Given the description of an element on the screen output the (x, y) to click on. 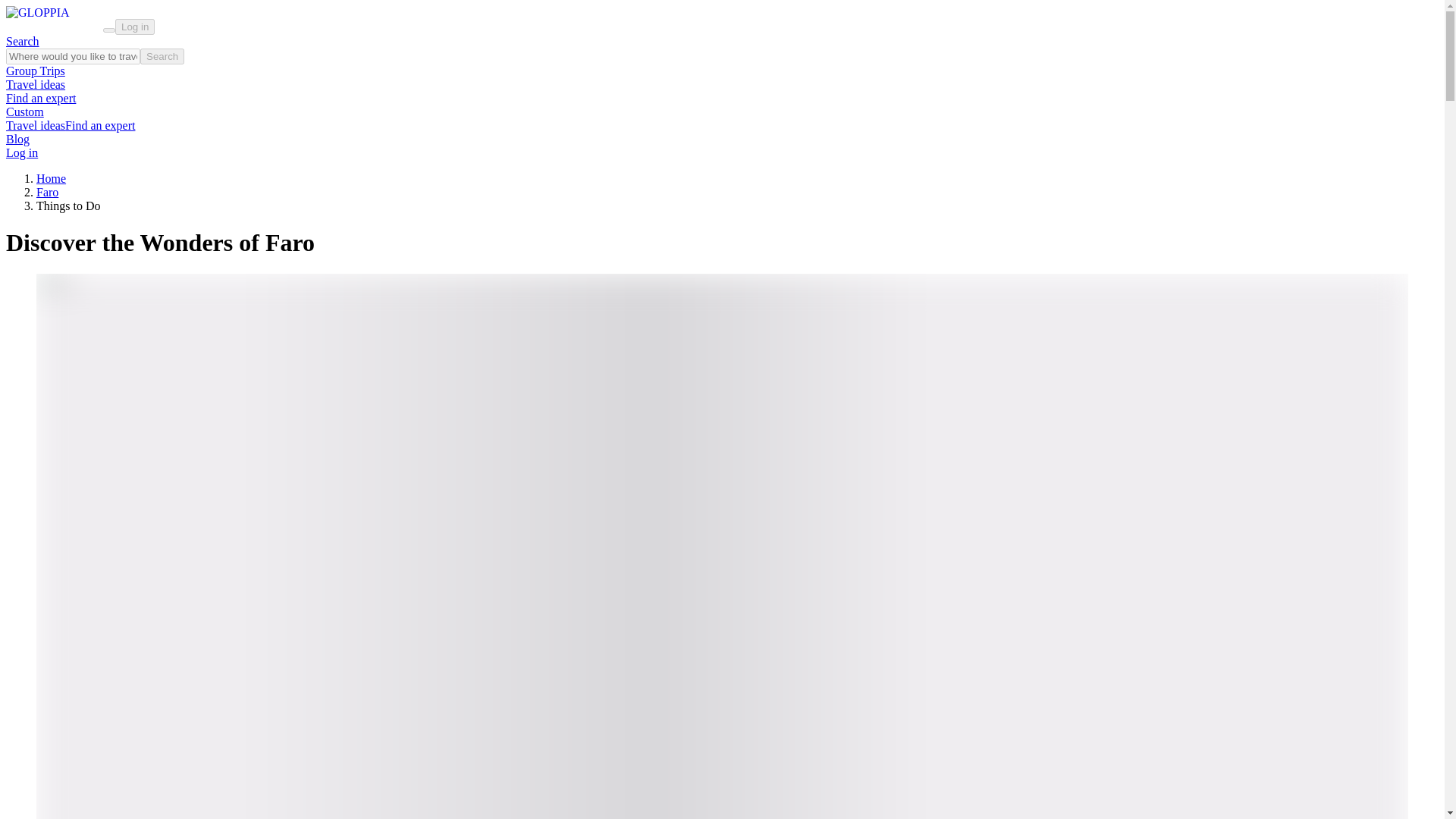
Log in (134, 26)
Travel ideas (35, 83)
Group Trips (35, 70)
Log in (21, 152)
Search (161, 56)
Travel ideas (35, 124)
GLOPPIA (54, 17)
Home (50, 178)
Blog (17, 138)
Custom (24, 111)
Find an expert (100, 124)
Faro (47, 192)
Find an expert (40, 97)
Search (22, 41)
